Given the description of an element on the screen output the (x, y) to click on. 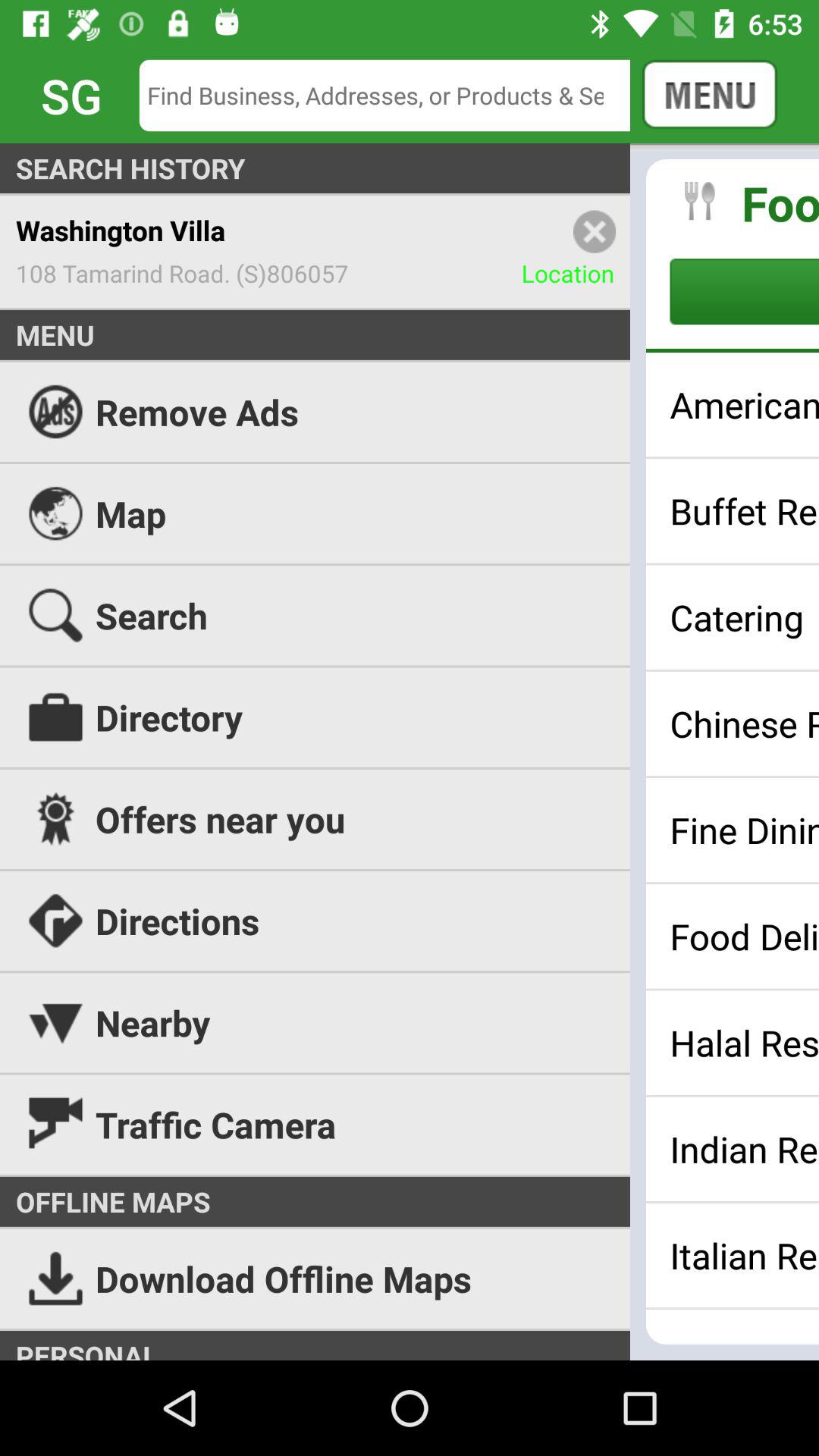
go to search (395, 95)
